Given the description of an element on the screen output the (x, y) to click on. 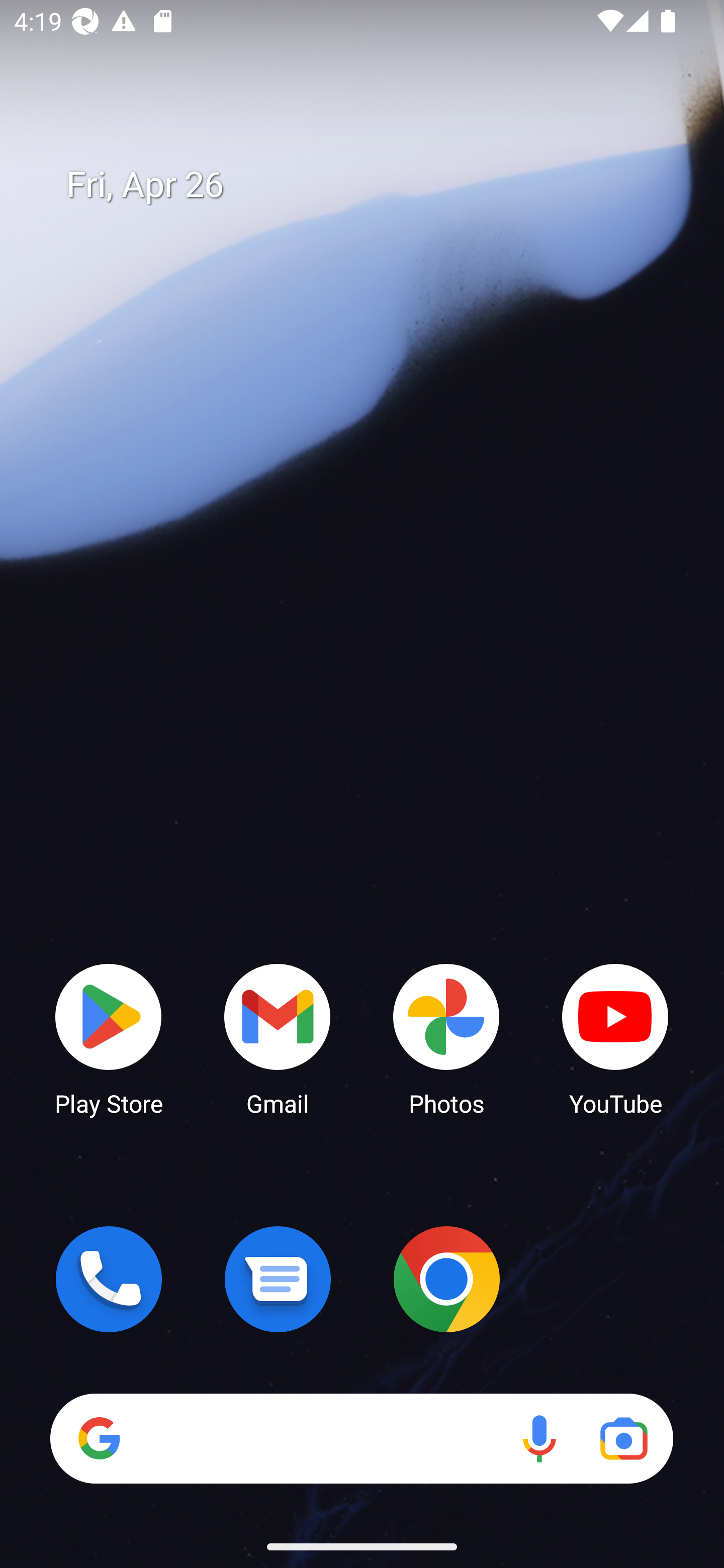
Fri, Apr 26 (375, 184)
Play Store (108, 1038)
Gmail (277, 1038)
Photos (445, 1038)
YouTube (615, 1038)
Phone (108, 1279)
Messages (277, 1279)
Chrome (446, 1279)
Search Voice search Google Lens (361, 1438)
Voice search (539, 1438)
Google Lens (623, 1438)
